Given the description of an element on the screen output the (x, y) to click on. 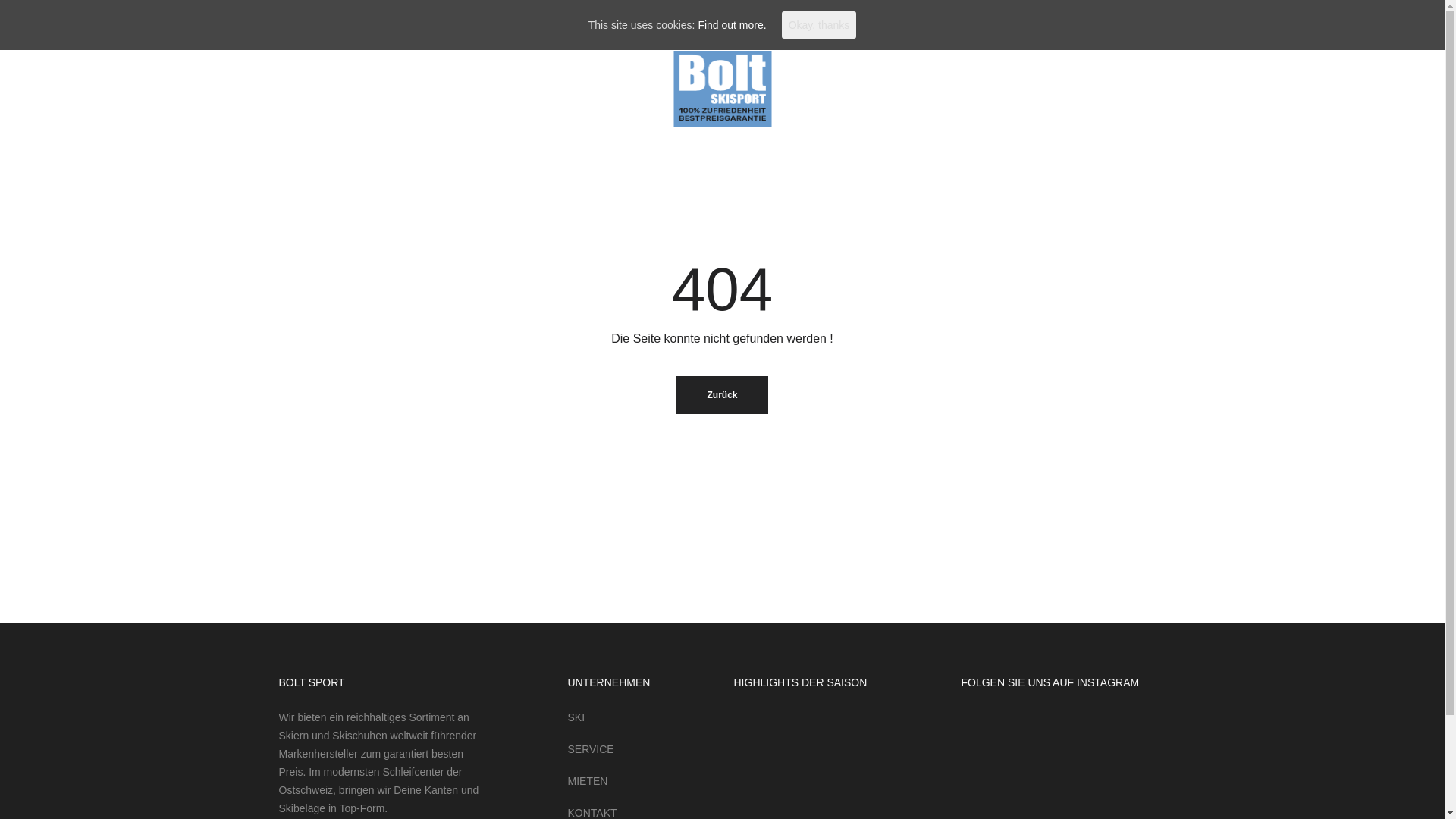
HOME Element type: text (90, 87)
MIETEN Element type: text (587, 781)
HV apero for ski and snowboard club st. margrethen Element type: text (1143, 791)
Making friends in Kaiserslautern. Meet Frettchen F Element type: text (984, 738)
SERVICE Element type: text (206, 87)
Die Gesundheit und das Wohlbefinden all unserer Ku Element type: text (1037, 738)
This will be a night to remember!! We can Element type: text (984, 791)
TERMIN-BUCHUNG Element type: text (376, 87)
Happy Easter allerseits. Lasst es euch auf der Pis Element type: text (1037, 791)
SKI Element type: text (575, 717)
Find out more. Element type: text (731, 24)
Instagram Element type: hover (1304, 87)
KONTAKT Element type: text (478, 87)
Happy New Year. Ich freue mich euch im 2020 zu seh Element type: text (1143, 738)
Okay, thanks Element type: text (818, 24)
Facebook Element type: hover (1279, 87)
SERVICE Element type: text (590, 749)
Skis at super prices! Premium racing service! Expe Element type: text (1090, 738)
SKI Element type: text (145, 87)
MIETEN Element type: text (278, 87)
